Given the description of an element on the screen output the (x, y) to click on. 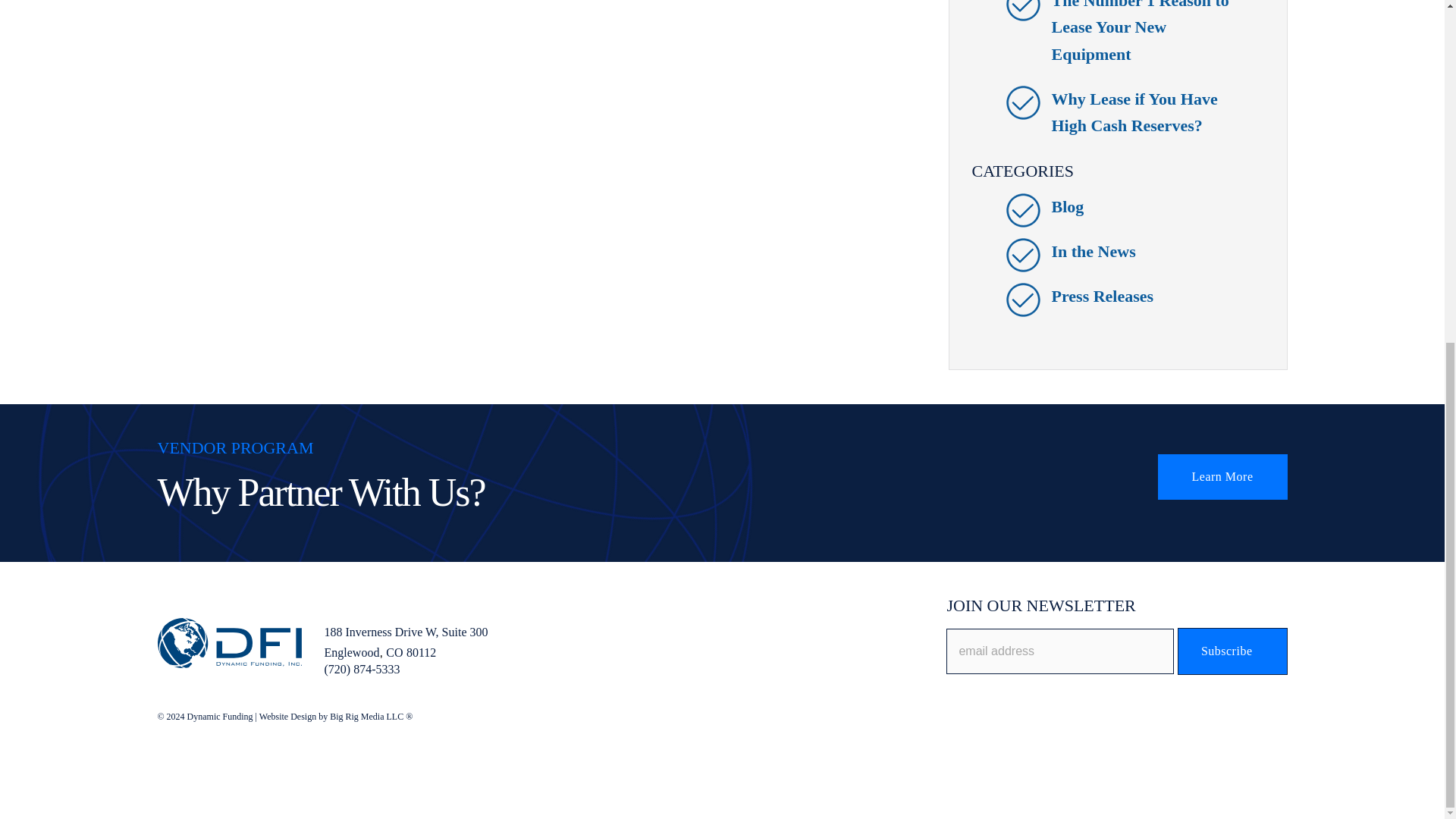
Press Releases (1102, 295)
Subscribe (1232, 651)
In the News (1093, 251)
The Number 1 Reason to Lease Your New Equipment (1139, 31)
Why Lease if You Have High Cash Reserves? (1134, 112)
Blog (1067, 206)
Learn More (1222, 476)
Dynamic Funding (229, 643)
